Given the description of an element on the screen output the (x, y) to click on. 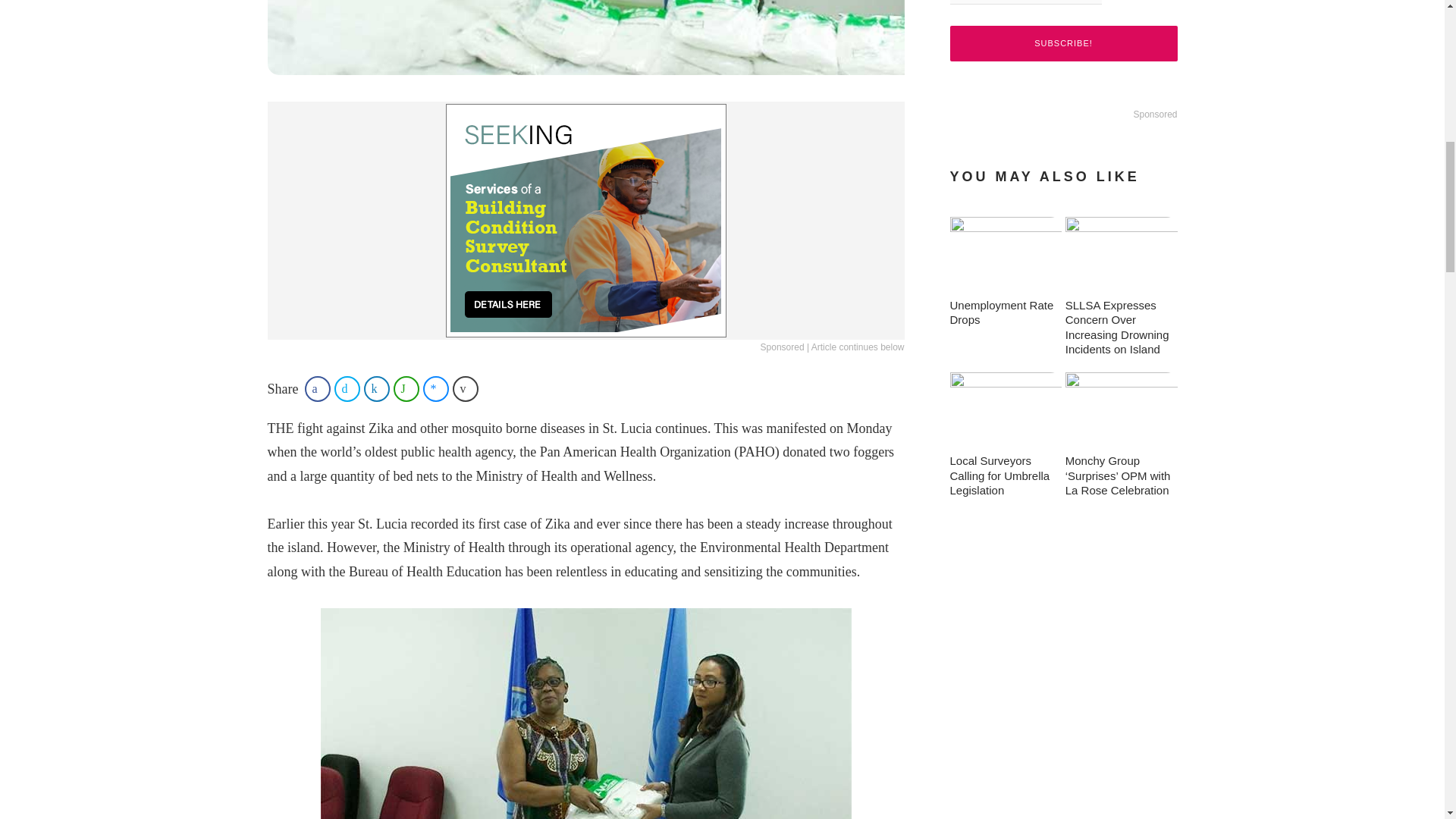
Share on Facebook (317, 388)
Subscribe! (1062, 43)
Share on Facebook Messenger (435, 388)
Email (1024, 2)
Share on LinkedIn (377, 388)
Share on Twitter (346, 388)
Share on WhatsApp (406, 388)
Share on Email (465, 388)
